Given the description of an element on the screen output the (x, y) to click on. 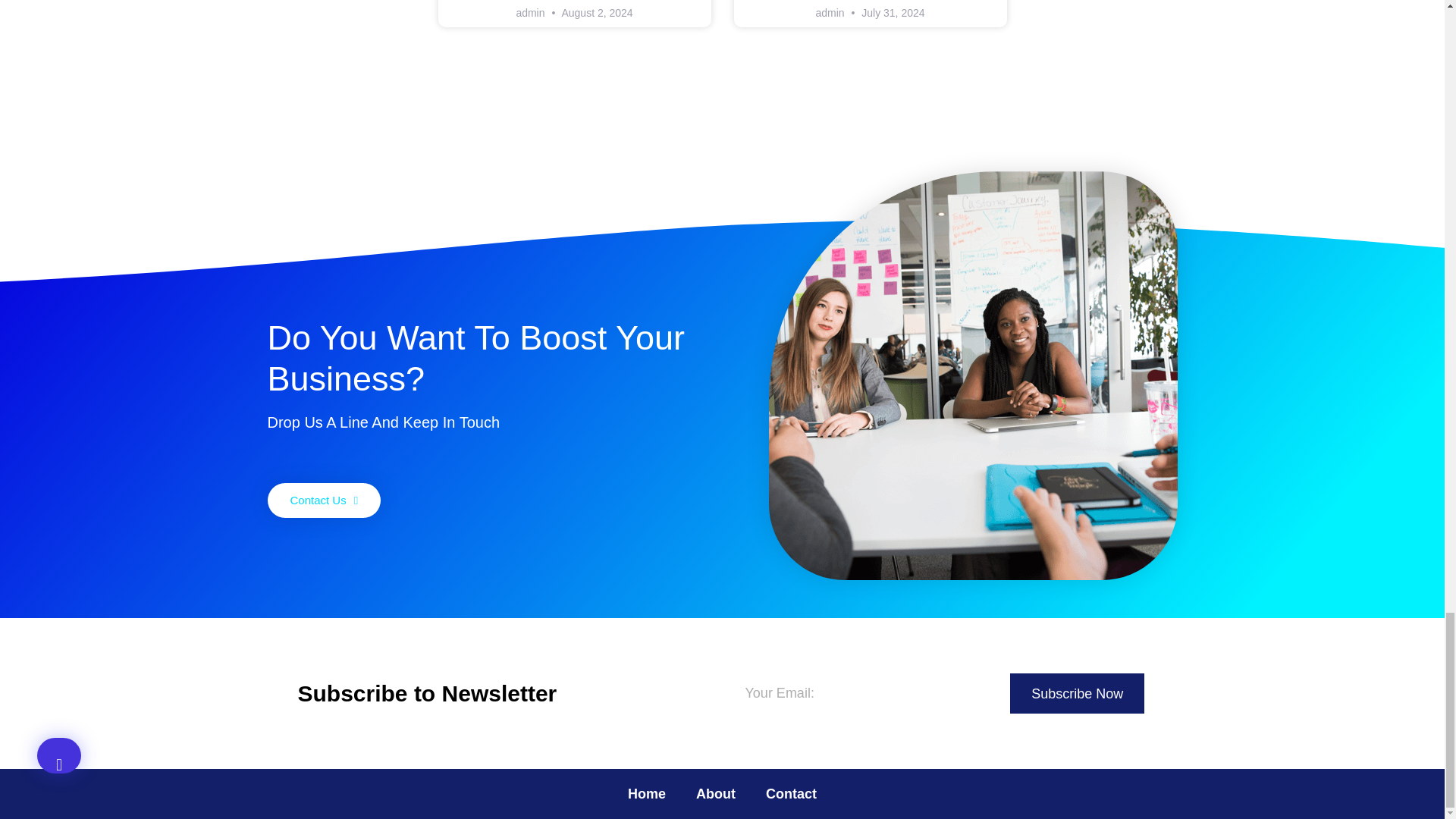
Home (646, 793)
Contact (791, 793)
Contact Us (323, 500)
Subscribe Now (1077, 692)
About (716, 793)
